Given the description of an element on the screen output the (x, y) to click on. 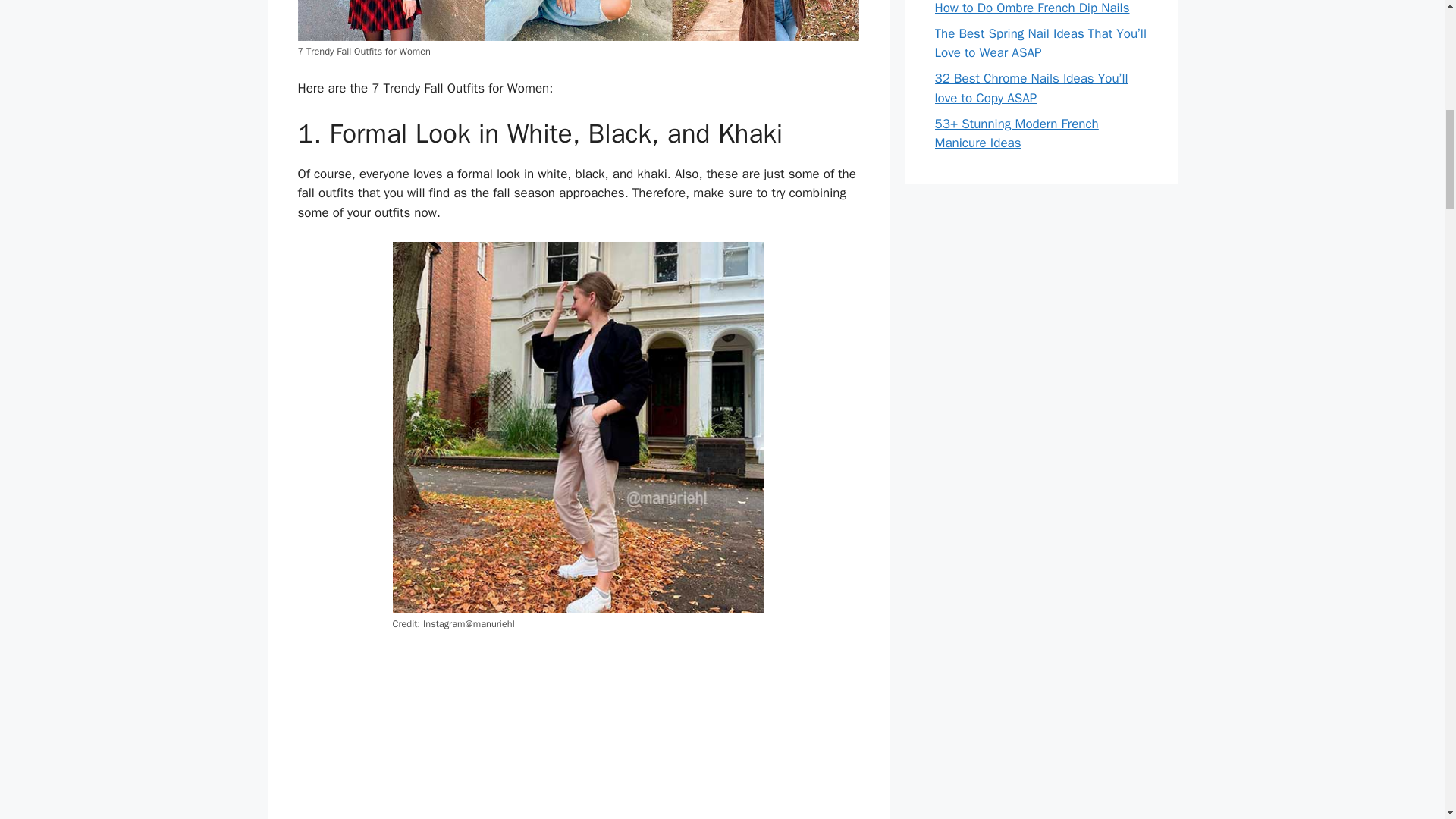
7 Trendy Fall Outfits for Women 2021 (578, 20)
How to Do Ombre French Dip Nails (1031, 7)
Advertisement (578, 734)
